Given the description of an element on the screen output the (x, y) to click on. 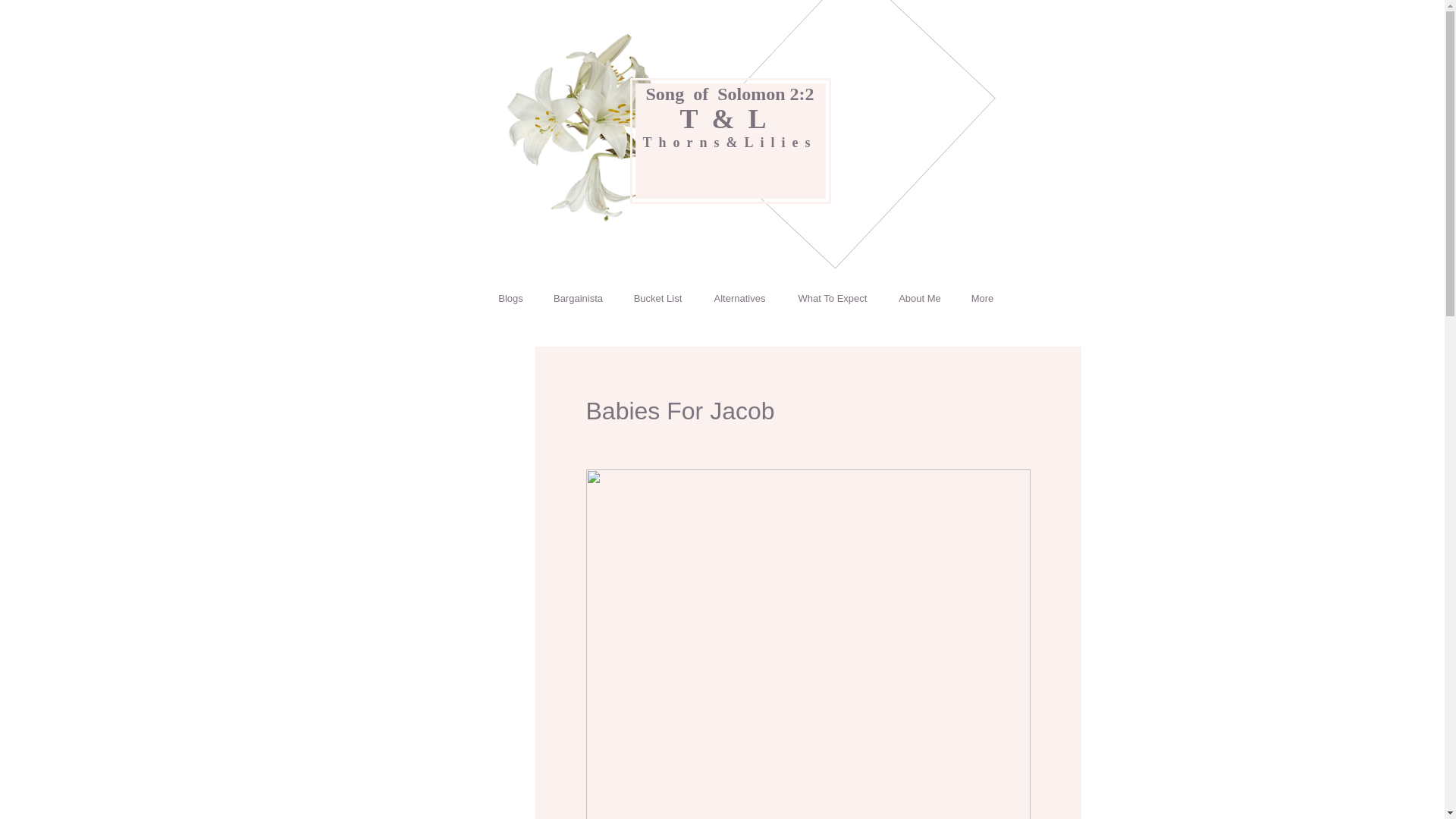
What To Expect (831, 298)
Alternatives (739, 298)
Blogs (510, 298)
Bargainista (720, 303)
Blogs (617, 303)
Bucket List (657, 298)
About Me (918, 298)
Bargainista (577, 298)
